Given the description of an element on the screen output the (x, y) to click on. 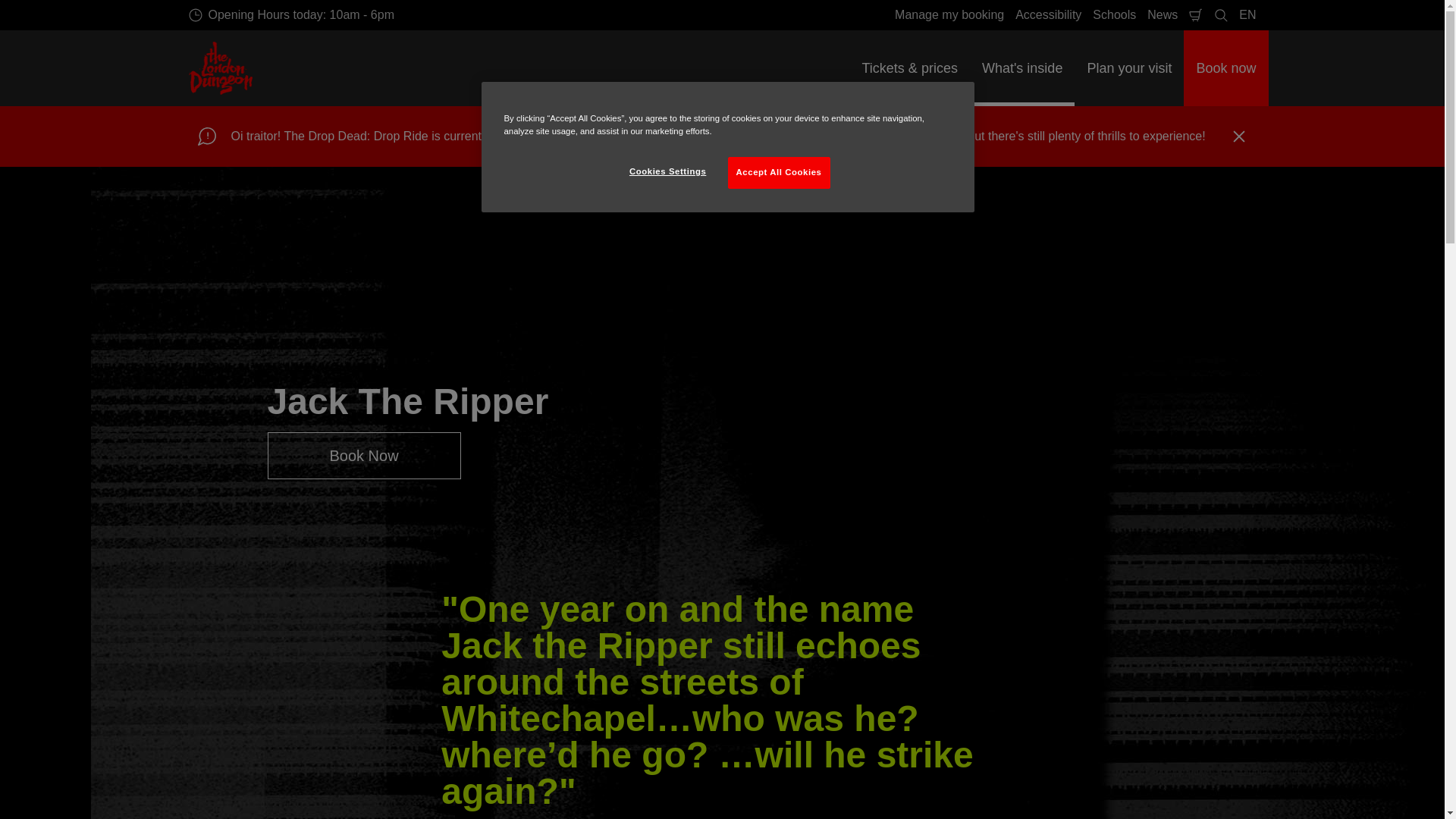
Check out (1196, 14)
News (1161, 14)
What's inside (1021, 68)
Manage my booking (949, 14)
Opening Hours today: 10am - 6pm (290, 14)
Schools (1114, 14)
Shopping Cart (1196, 14)
Accessibility (1047, 14)
Search (1220, 14)
